Given the description of an element on the screen output the (x, y) to click on. 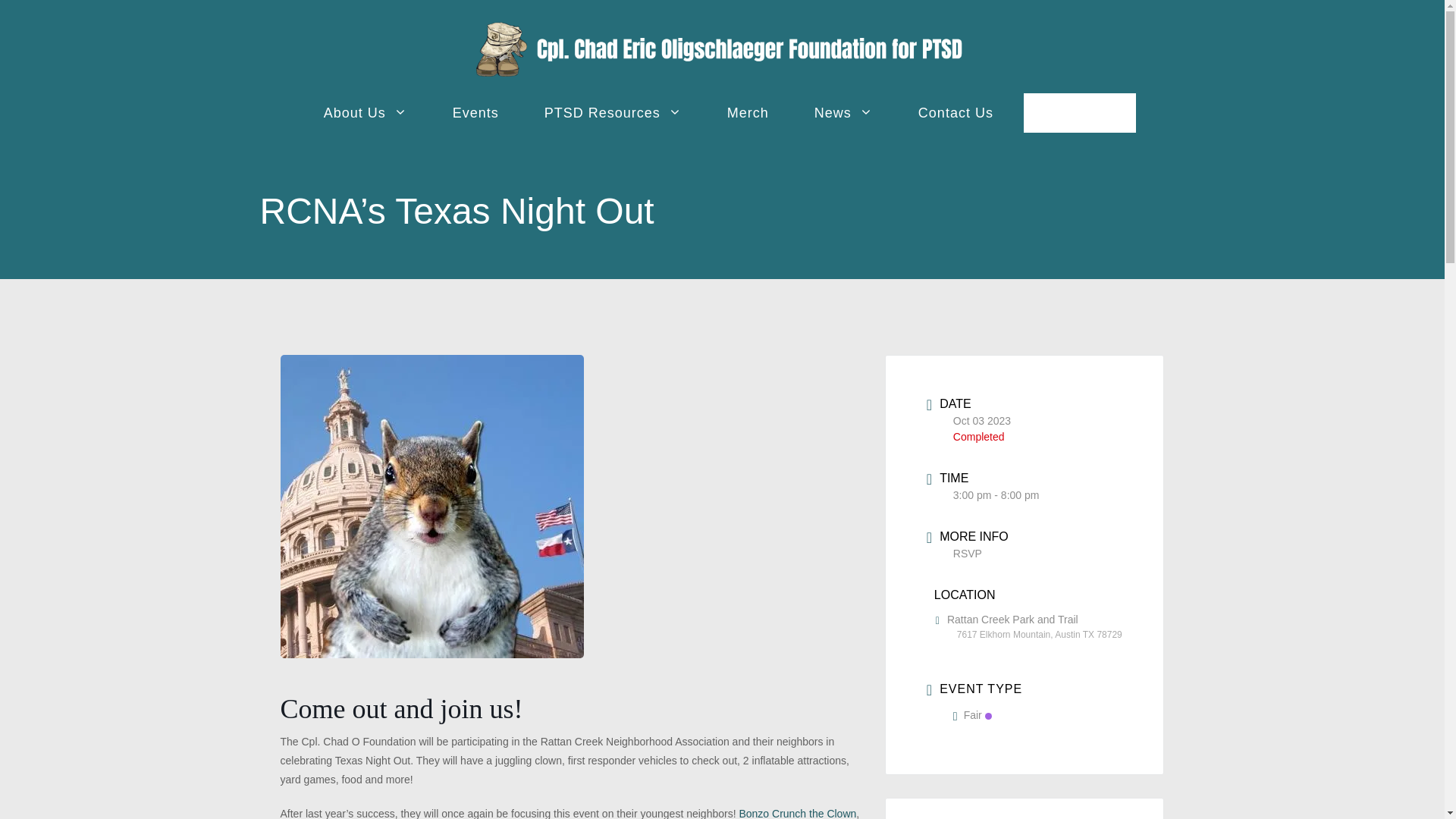
Cpl. Chad Eric Oligschlaeger Foundation for PTSD (722, 49)
Contact Us (955, 112)
Events (475, 112)
About Us (365, 112)
Merch (748, 112)
DONATE (1079, 111)
Fair  (972, 715)
News (843, 112)
PTSD Resources (612, 112)
Cpl. Chad Eric Oligschlaeger Foundation for PTSD (722, 47)
RSVP (967, 553)
Bonzo Crunch the Clown (797, 813)
